Given the description of an element on the screen output the (x, y) to click on. 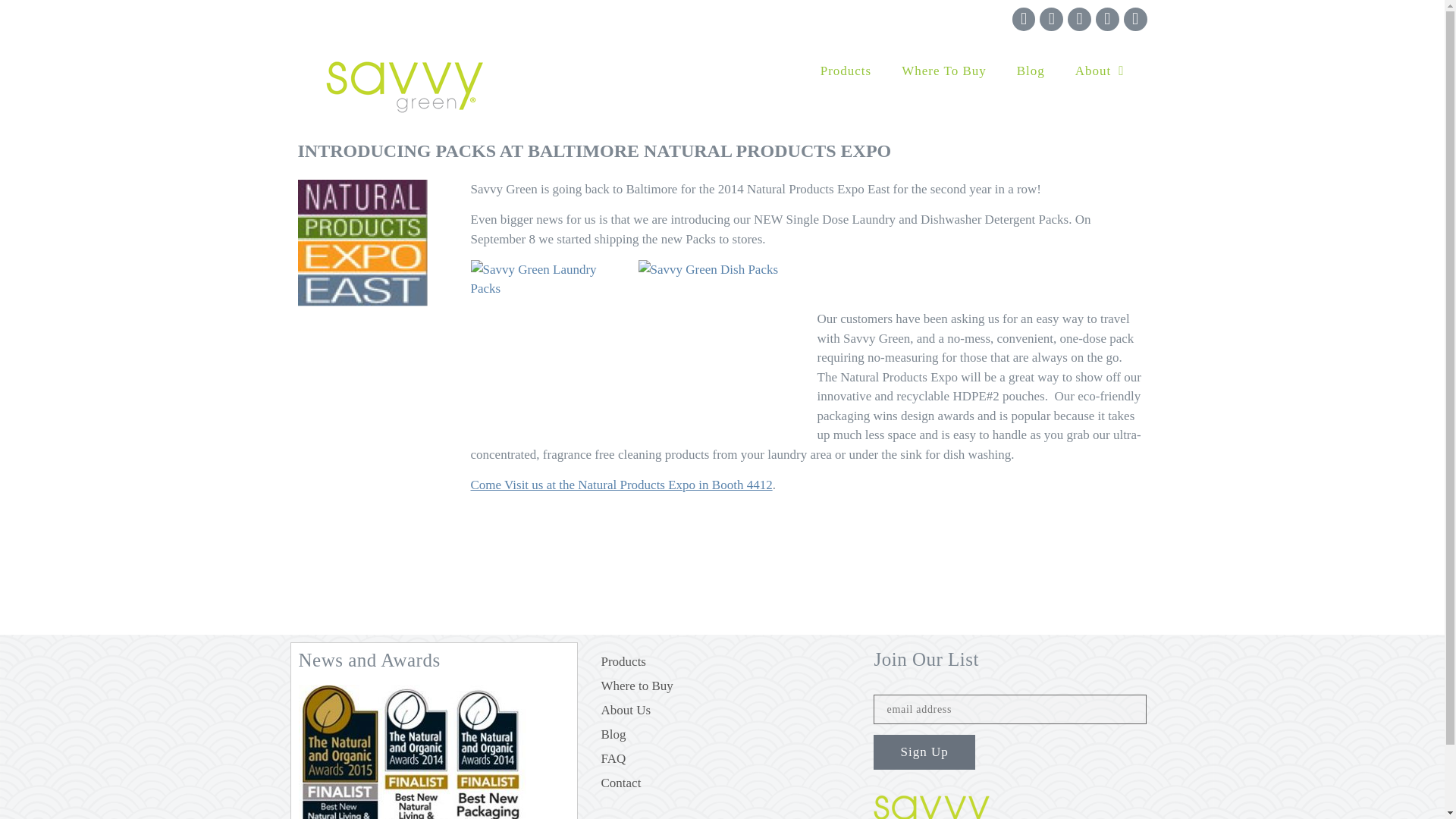
About Us (722, 710)
Come Visit us at the Natural Products Expo in Booth 4412 (620, 484)
About (1099, 71)
Blog (722, 734)
Where to Buy (722, 686)
Products (722, 662)
FAQ (722, 758)
Contact (722, 783)
Where To Buy (943, 71)
Sign up (923, 751)
